Given the description of an element on the screen output the (x, y) to click on. 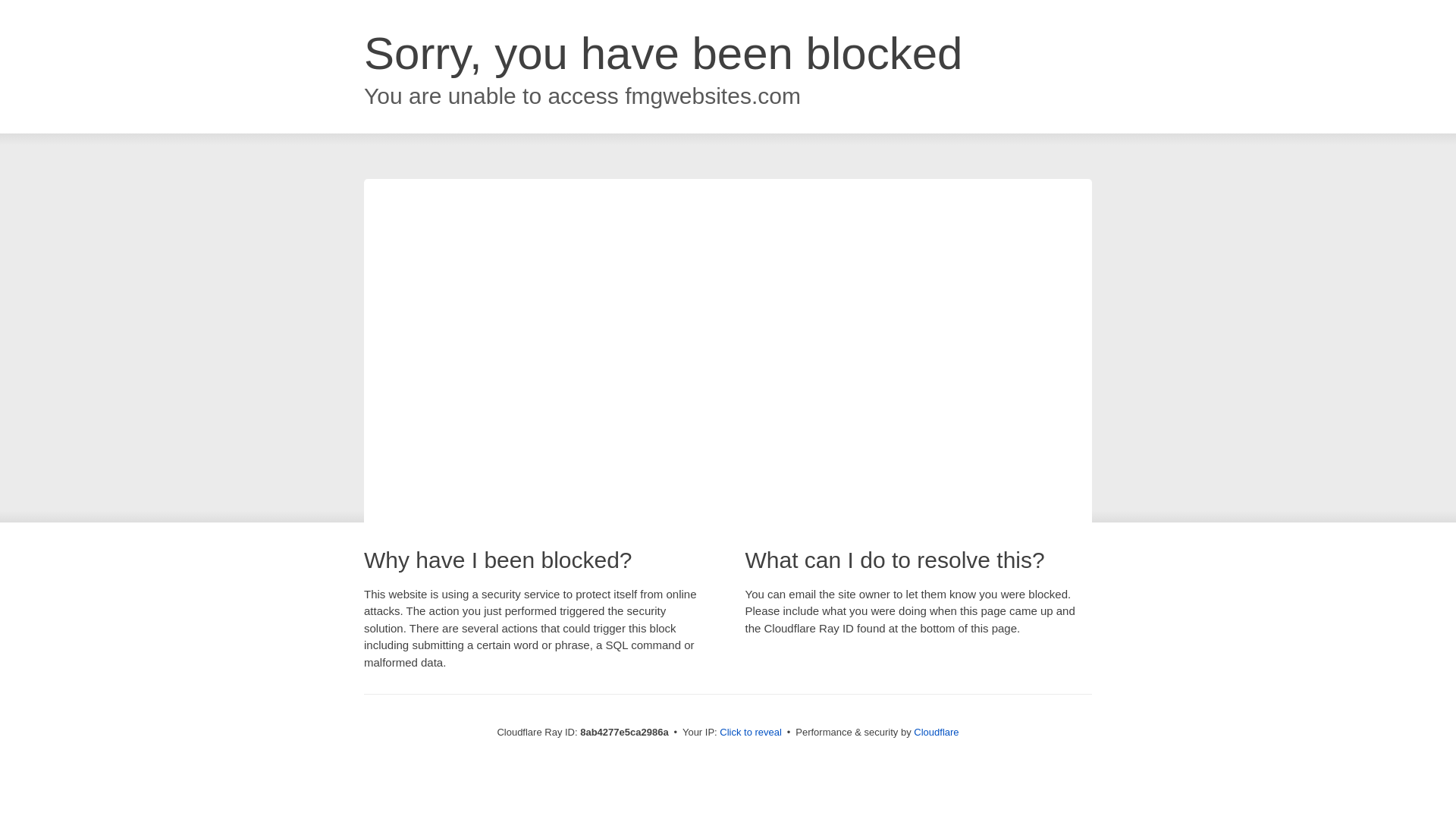
Cloudflare (936, 731)
Click to reveal (750, 732)
